Given the description of an element on the screen output the (x, y) to click on. 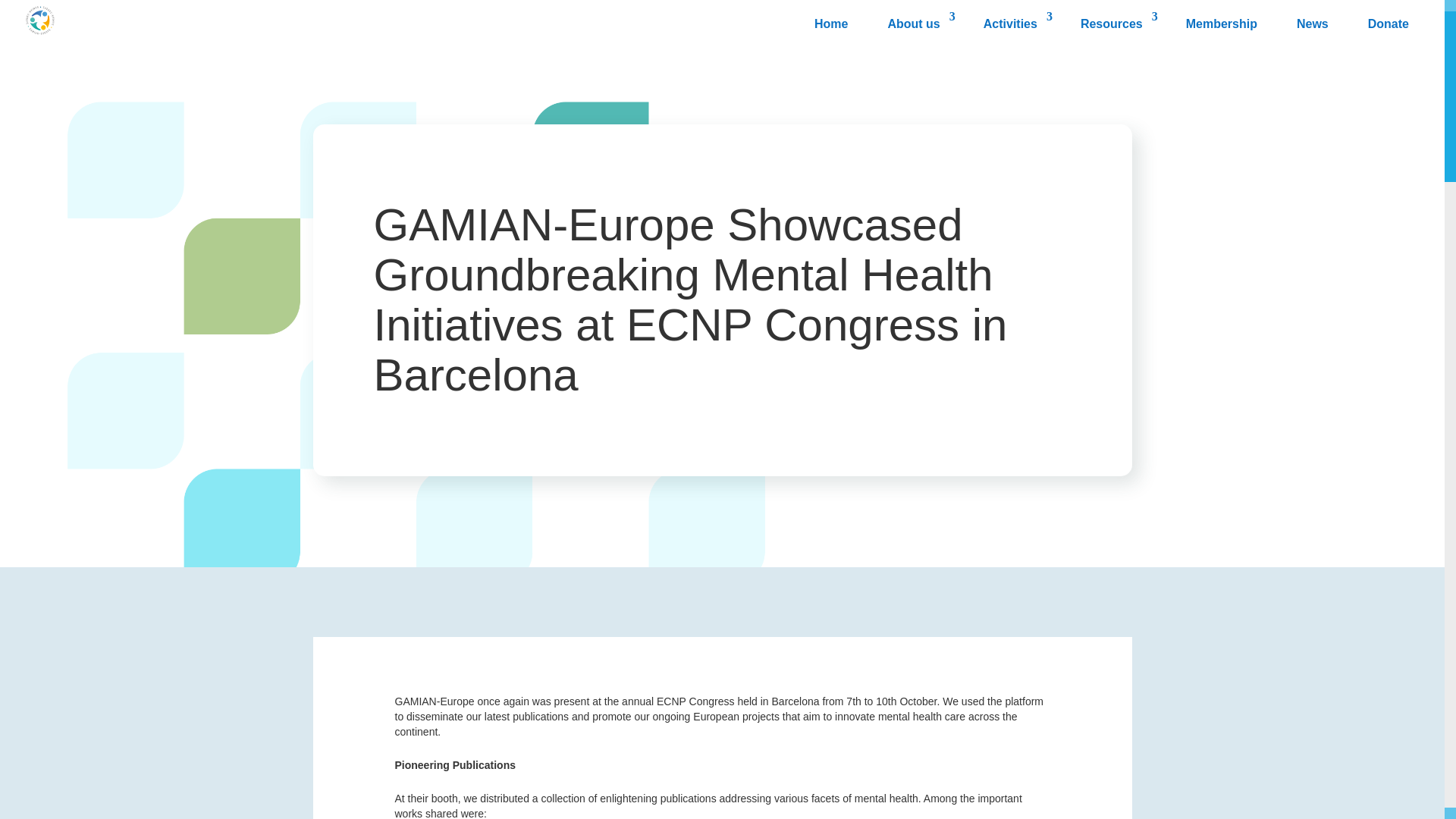
Membership (1221, 25)
News (1312, 25)
Home (831, 25)
Resources (1112, 25)
Donate (1388, 25)
Activities (1012, 25)
About us (915, 25)
